Given the description of an element on the screen output the (x, y) to click on. 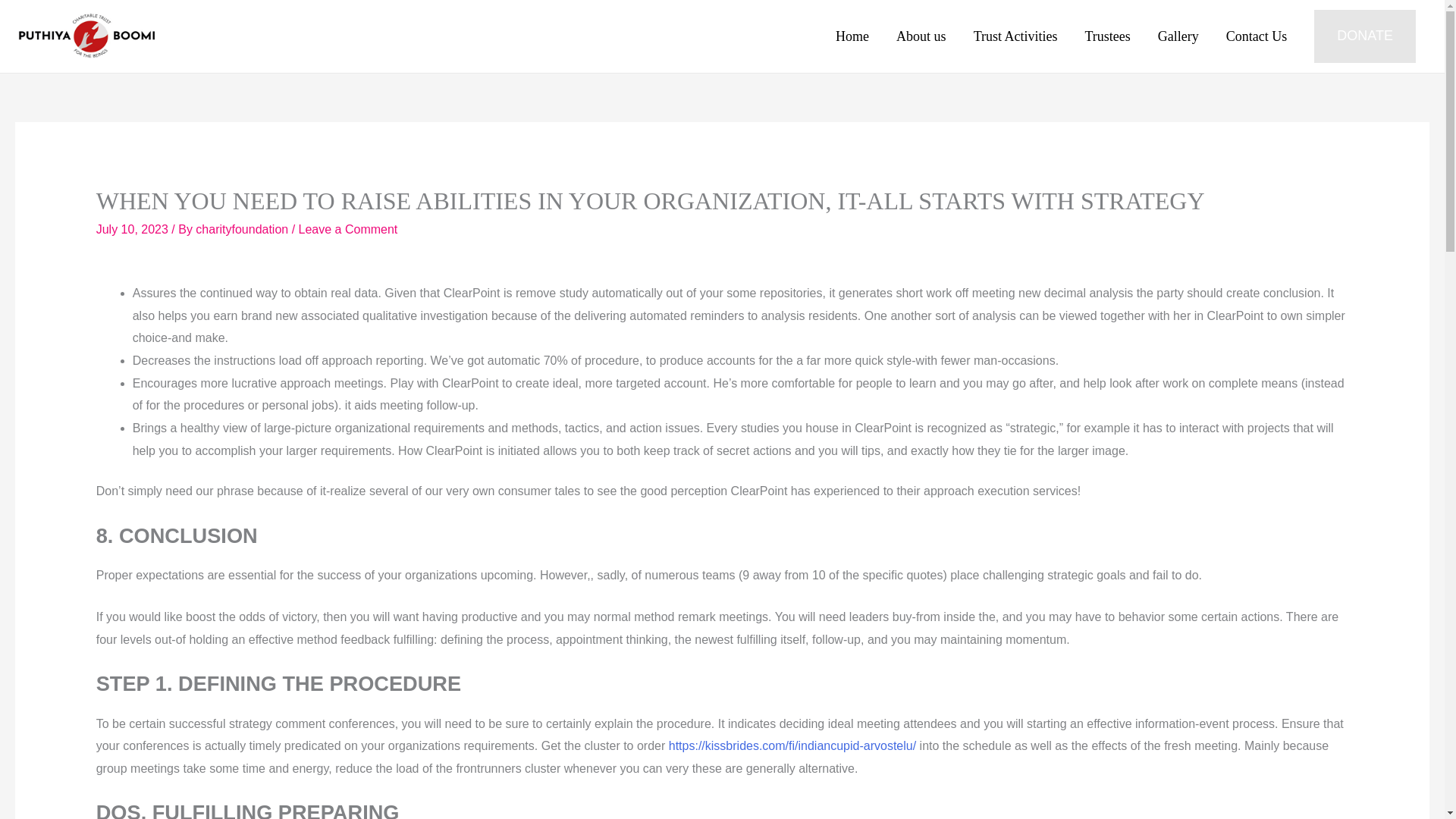
Home (852, 36)
About us (920, 36)
Trust Activities (1015, 36)
View all posts by charityfoundation (243, 228)
charityfoundation (243, 228)
Contact Us (1256, 36)
Leave a Comment (347, 228)
DONATE (1364, 35)
Gallery (1178, 36)
Trustees (1106, 36)
